Given the description of an element on the screen output the (x, y) to click on. 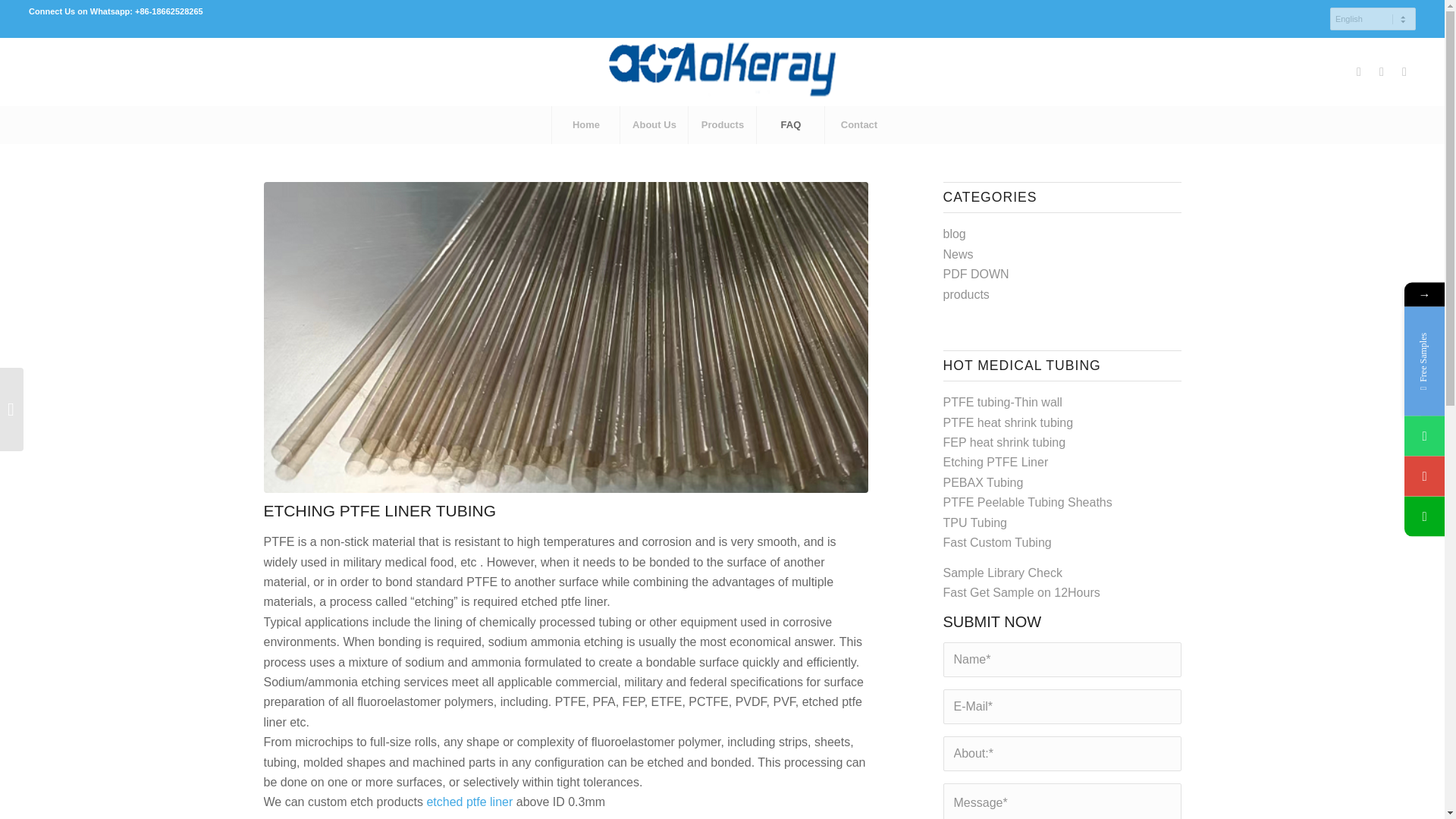
FAQ (789, 125)
LinkedIn (1404, 71)
Home (585, 125)
Permanent Link: etching PTFE liner tubing (379, 510)
Products (721, 125)
Contact (858, 125)
Youtube (1381, 71)
Facebook (1359, 71)
About Us (653, 125)
